Given the description of an element on the screen output the (x, y) to click on. 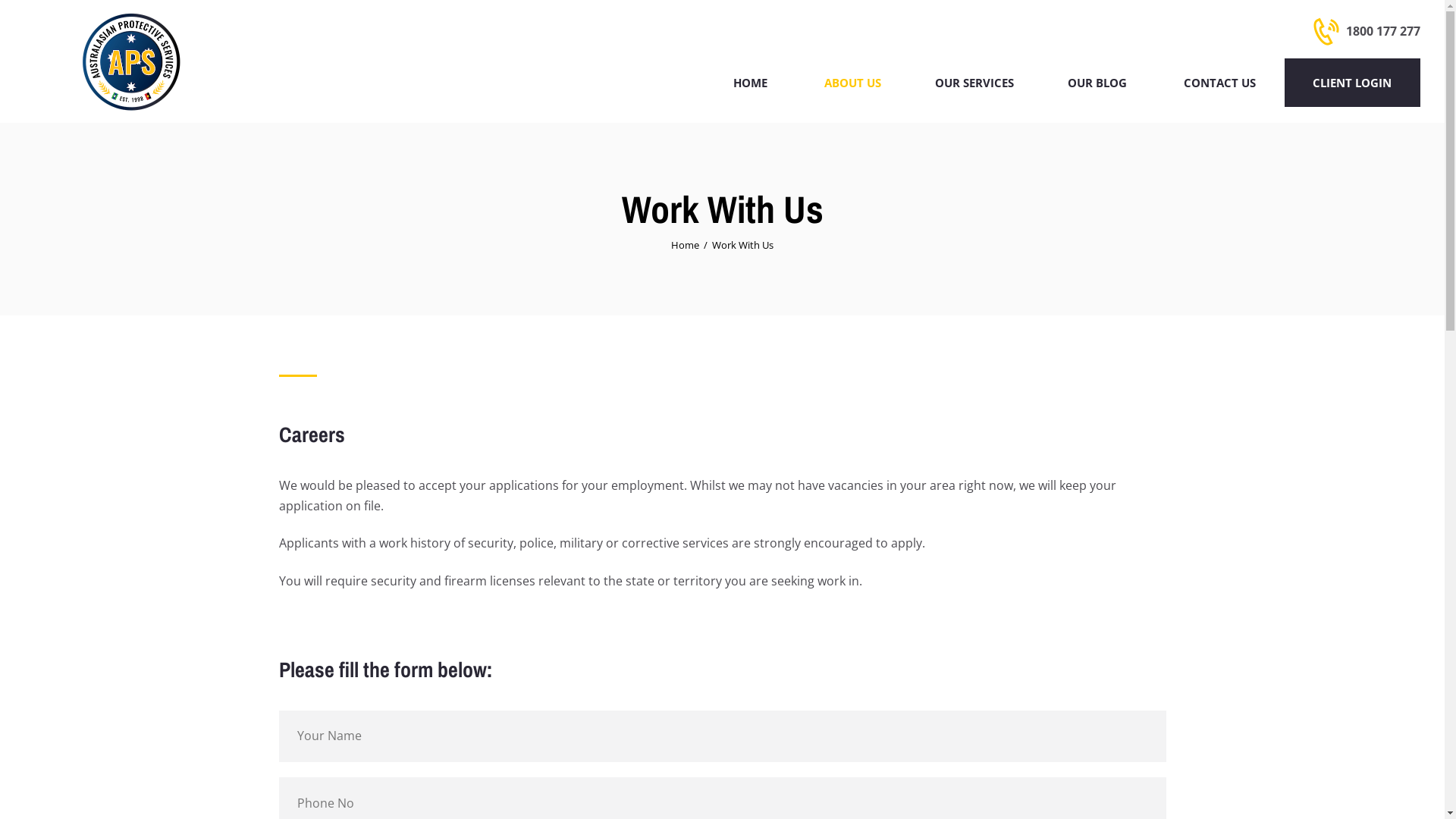
CLIENT LOGIN Element type: text (1352, 82)
OUR SERVICES Element type: text (972, 82)
ABOUT US Element type: text (850, 82)
HOME Element type: text (749, 82)
OUR BLOG Element type: text (1097, 82)
1800 177 277 Element type: text (1366, 31)
Home Element type: text (685, 245)
CONTACT US Element type: text (1219, 82)
